Given the description of an element on the screen output the (x, y) to click on. 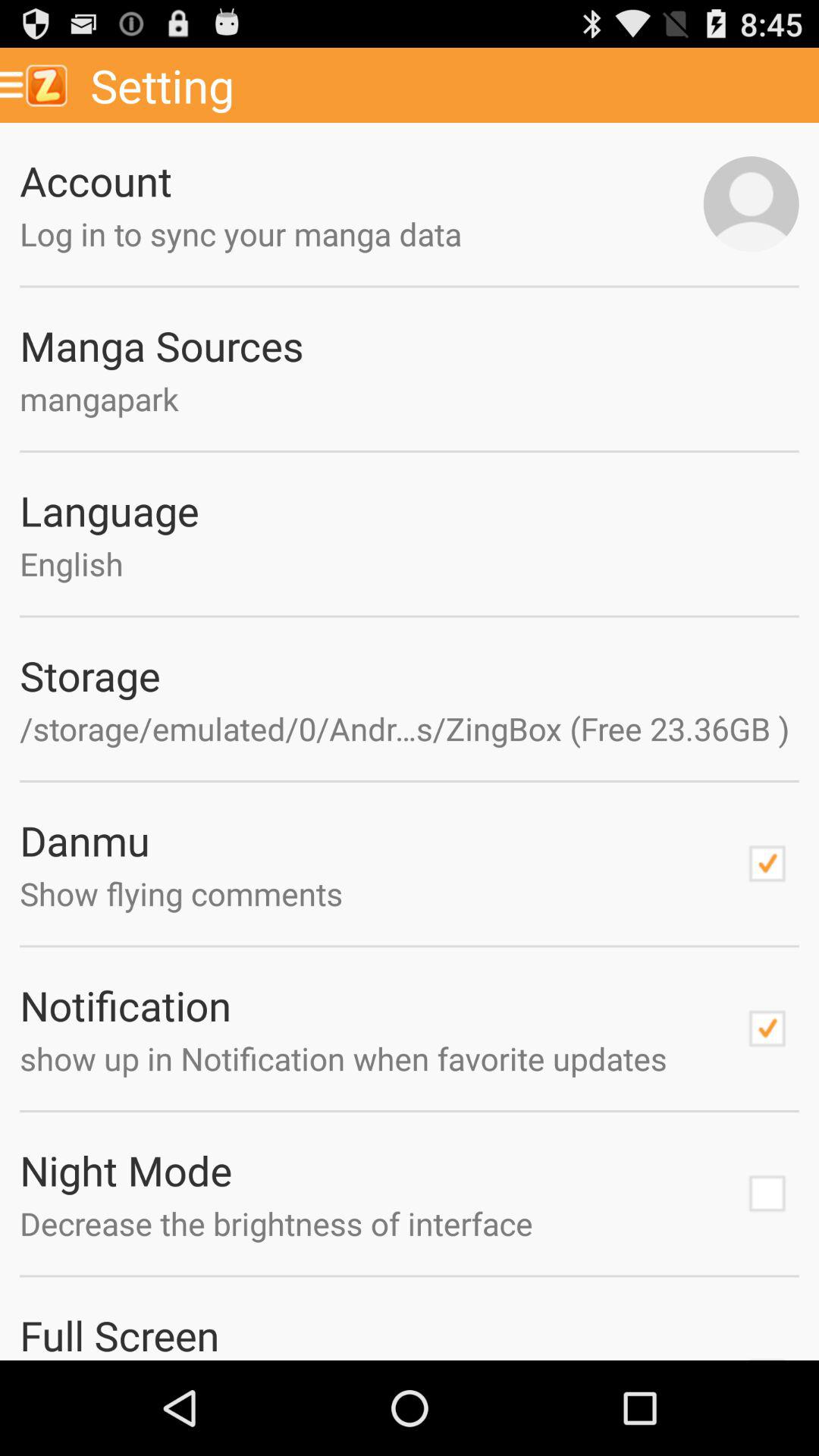
scroll to language item (409, 510)
